Given the description of an element on the screen output the (x, y) to click on. 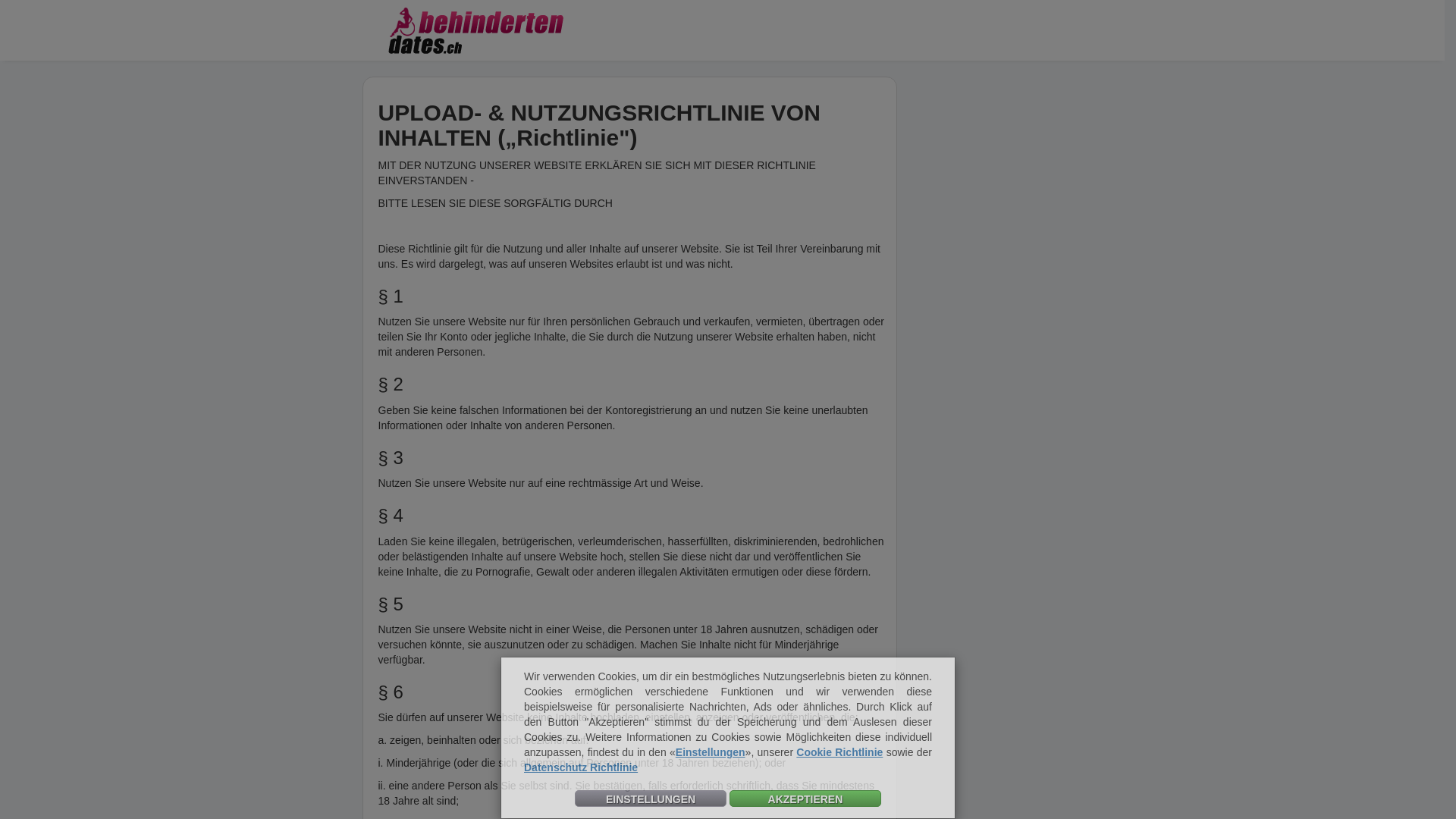
Datenschutz Richtlinie Element type: text (580, 767)
Cookie Richtlinie Element type: text (839, 752)
Einstellungen Element type: text (710, 752)
